Given the description of an element on the screen output the (x, y) to click on. 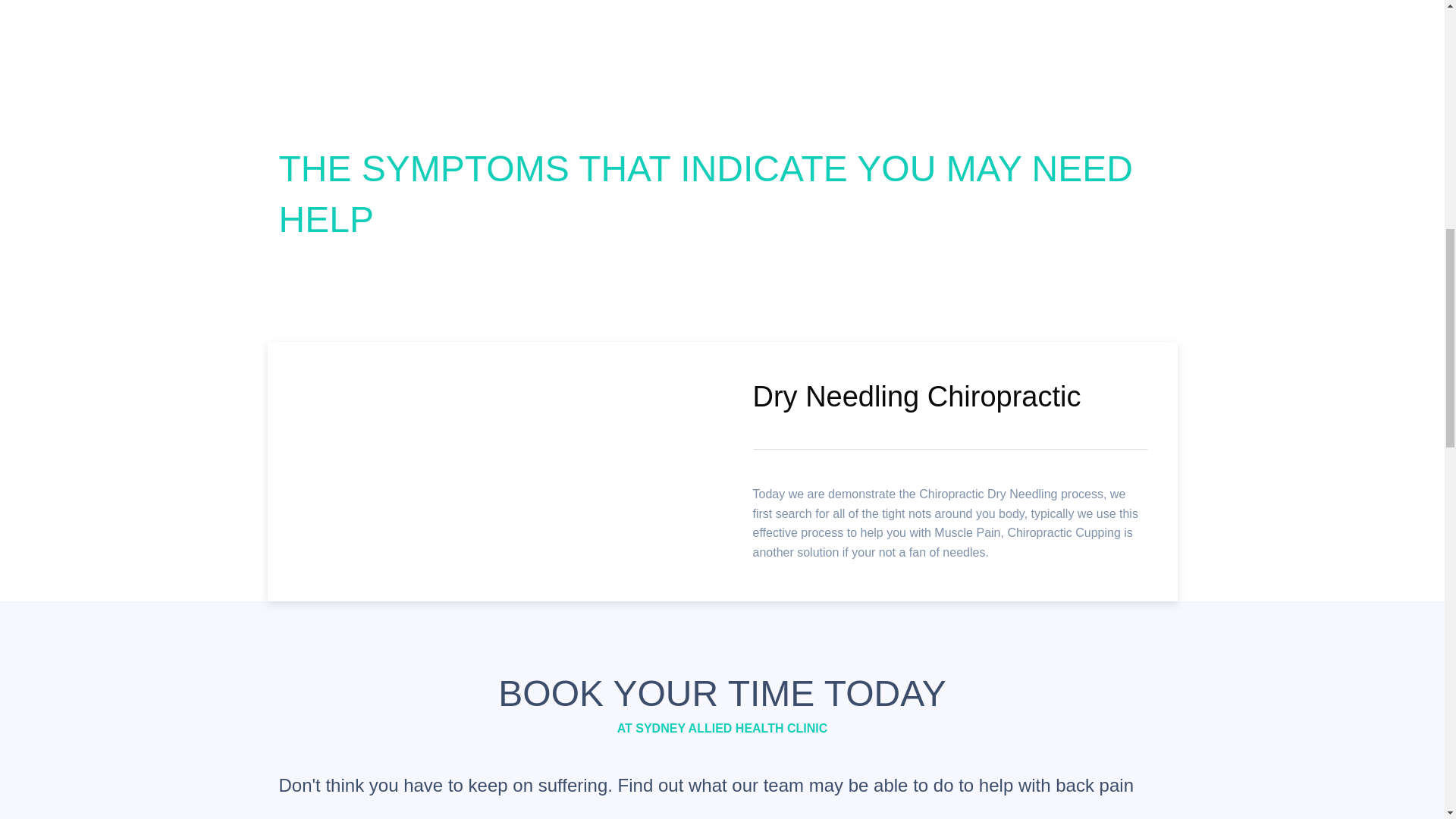
YouTube video player (494, 469)
